Given the description of an element on the screen output the (x, y) to click on. 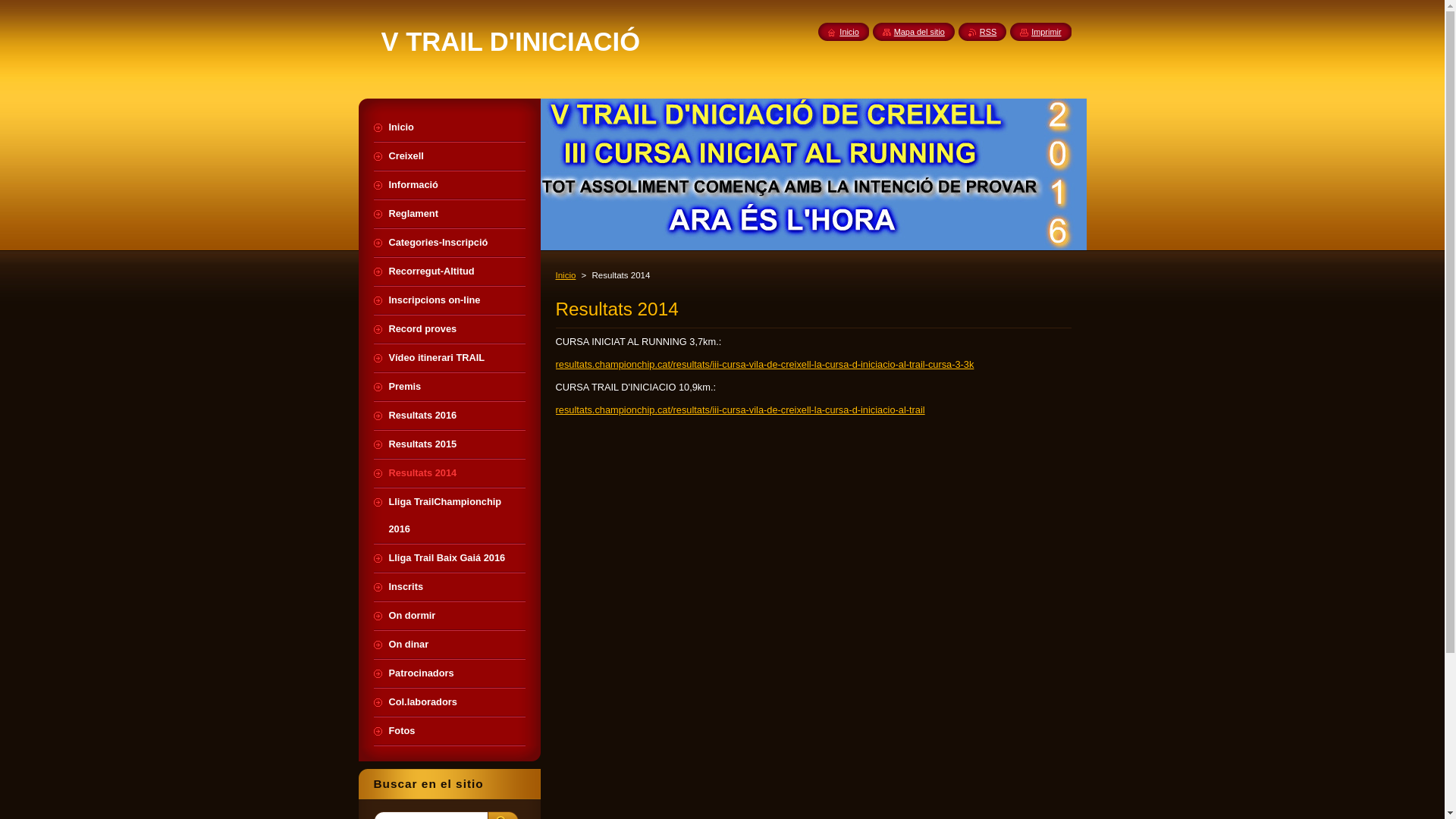
Record proves Element type: text (448, 328)
Col.laboradors Element type: text (448, 701)
Premis Element type: text (448, 386)
Fotos Element type: text (448, 730)
On dormir Element type: text (448, 615)
On dinar Element type: text (448, 644)
Resultats 2014 Element type: text (448, 472)
Inicio Element type: text (448, 127)
Lliga TrailChampionchip 2016 Element type: text (448, 515)
Imprimir Element type: text (1039, 31)
Inicio Element type: text (565, 274)
Inscripcions on-line Element type: text (448, 299)
Mapa del sitio Element type: text (913, 31)
Creixell Element type: text (448, 155)
RSS Element type: text (982, 31)
Inicio Element type: text (843, 31)
Inscrits Element type: text (448, 586)
Resultats 2016 Element type: text (448, 415)
Recorregut-Altitud Element type: text (448, 271)
Reglament Element type: text (448, 213)
Resultats 2015 Element type: text (448, 444)
Patrocinadors Element type: text (448, 673)
